Given the description of an element on the screen output the (x, y) to click on. 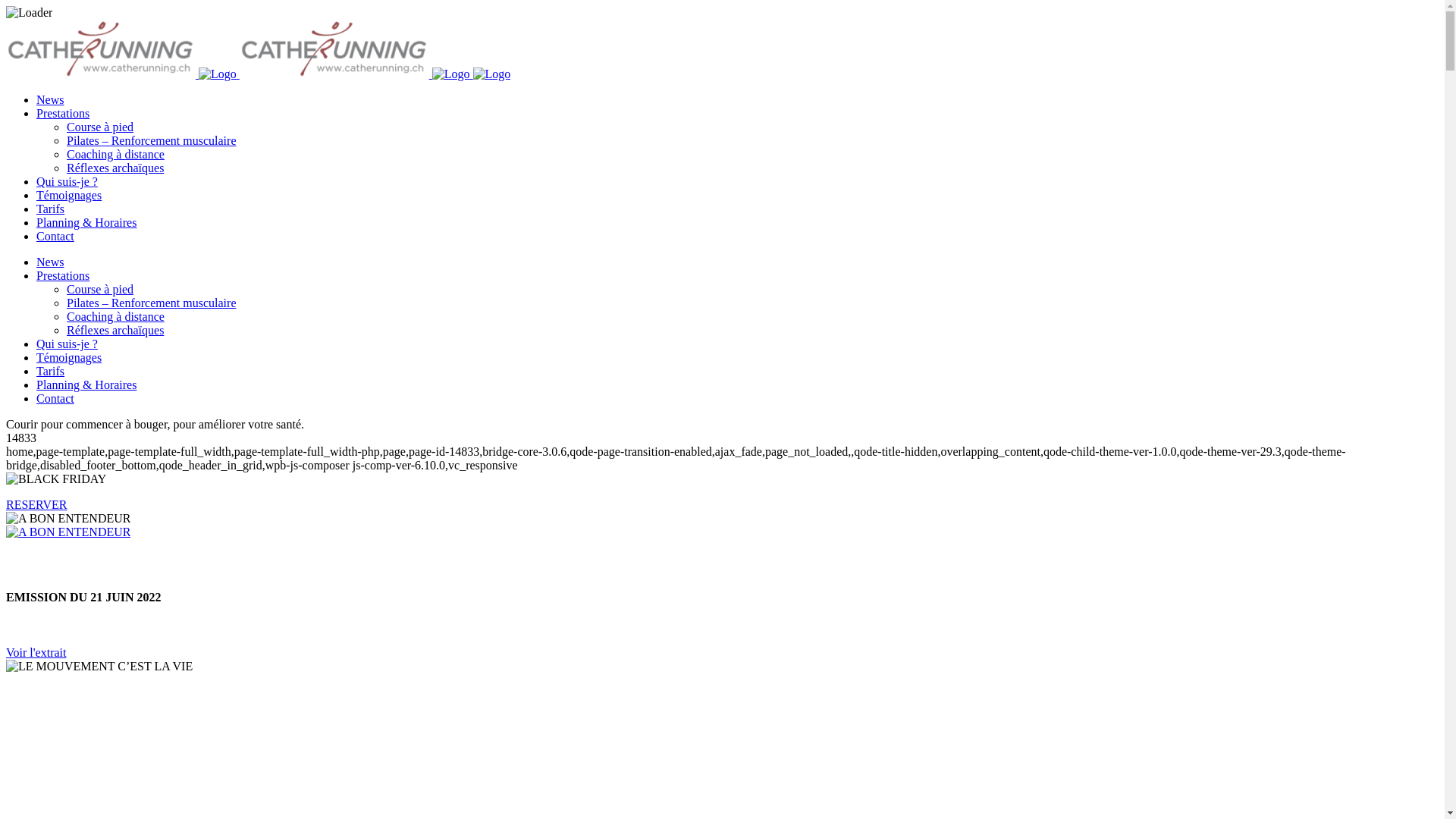
News Element type: text (49, 261)
News Element type: text (49, 99)
Contact Element type: text (55, 398)
Planning & Horaires Element type: text (86, 222)
Voir l'extrait Element type: text (35, 652)
Qui suis-je ? Element type: text (66, 181)
Prestations Element type: text (62, 275)
Contact Element type: text (55, 235)
Planning & Horaires Element type: text (86, 384)
Prestations Element type: text (62, 112)
Tarifs Element type: text (50, 208)
Tarifs Element type: text (50, 370)
RESERVER Element type: text (36, 504)
Qui suis-je ? Element type: text (66, 343)
